Given the description of an element on the screen output the (x, y) to click on. 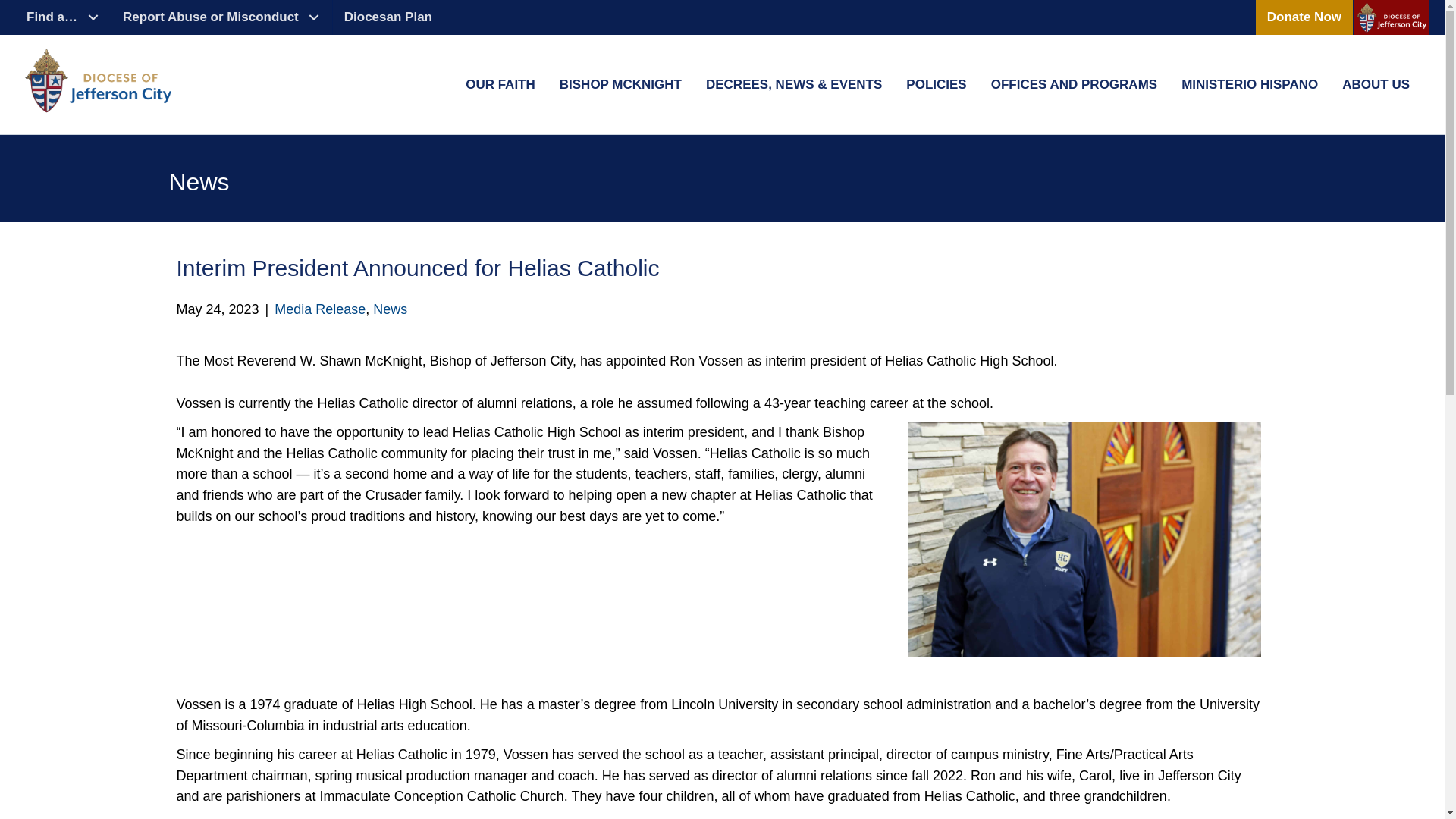
DJC ButtonLogo 2021 (1391, 17)
OUR FAITH (499, 84)
Diocesan Plan (388, 17)
BISHOP MCKNIGHT (620, 84)
Report Abuse or Misconduct (222, 17)
Donate Now (1303, 17)
DJC Official Logo (98, 80)
